Given the description of an element on the screen output the (x, y) to click on. 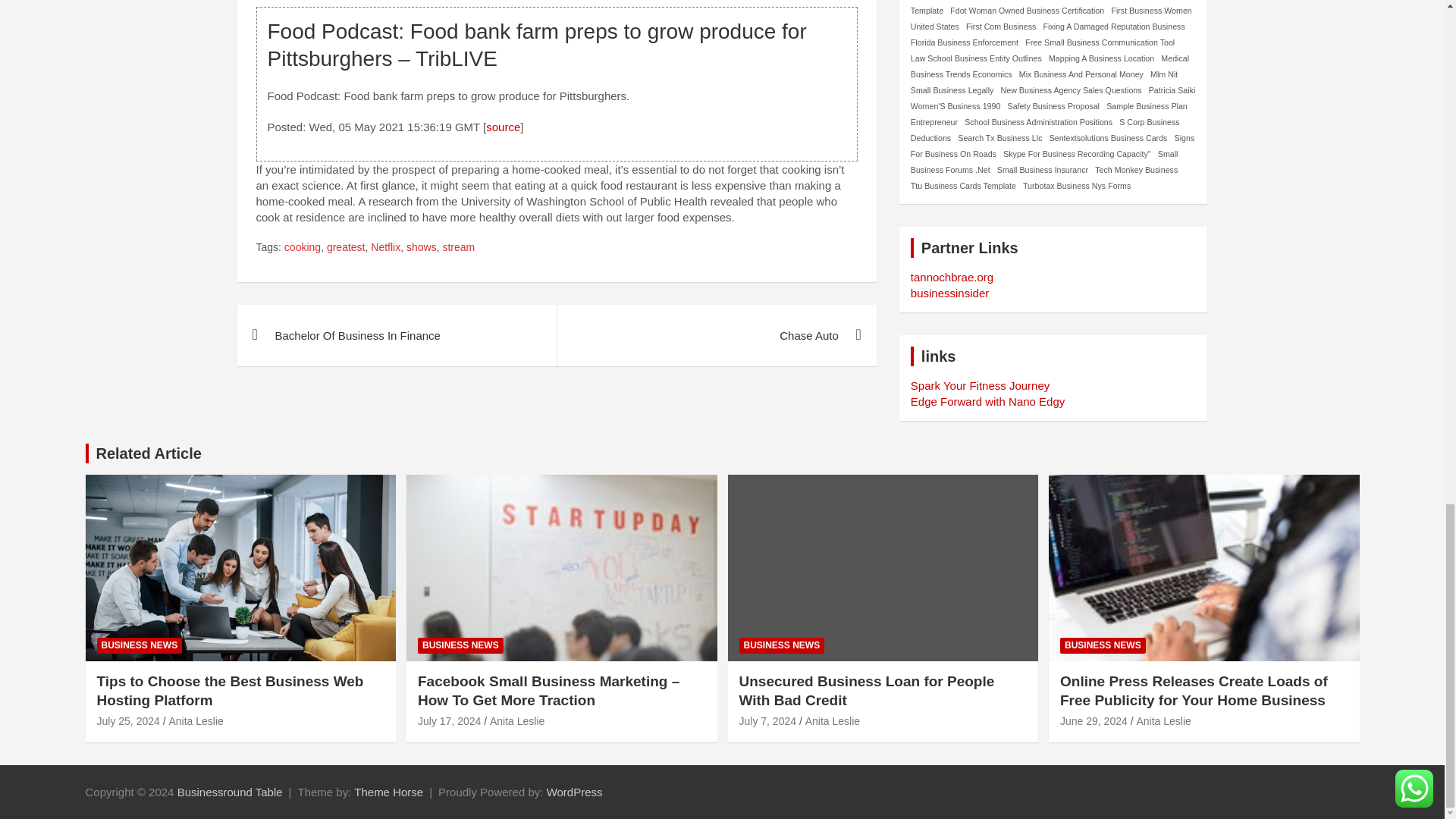
source (502, 126)
stream (458, 247)
Bachelor Of Business In Finance (395, 335)
shows (421, 247)
cooking (301, 247)
Netflix (385, 247)
greatest (345, 247)
Chase Auto (716, 335)
Tips to Choose the Best Business Web Hosting Platform (128, 720)
